Given the description of an element on the screen output the (x, y) to click on. 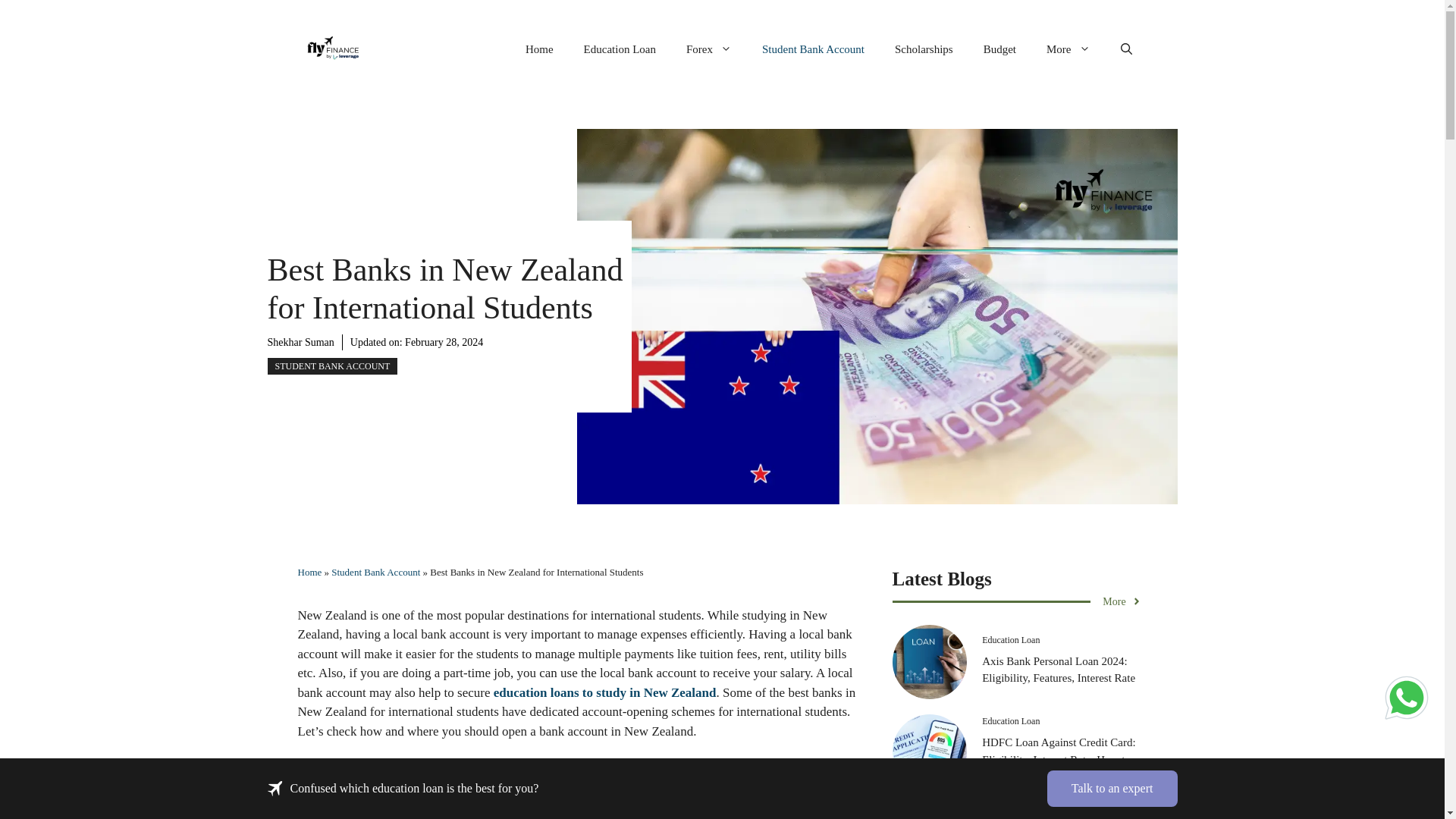
STUDENT BANK ACCOUNT (331, 365)
Forex (708, 49)
education loans to study in New Zealand (604, 692)
Budget (999, 49)
Student Bank Account (375, 572)
Scholarships (923, 49)
More (1067, 49)
Home (309, 572)
Education Loan (620, 49)
Home (540, 49)
